Given the description of an element on the screen output the (x, y) to click on. 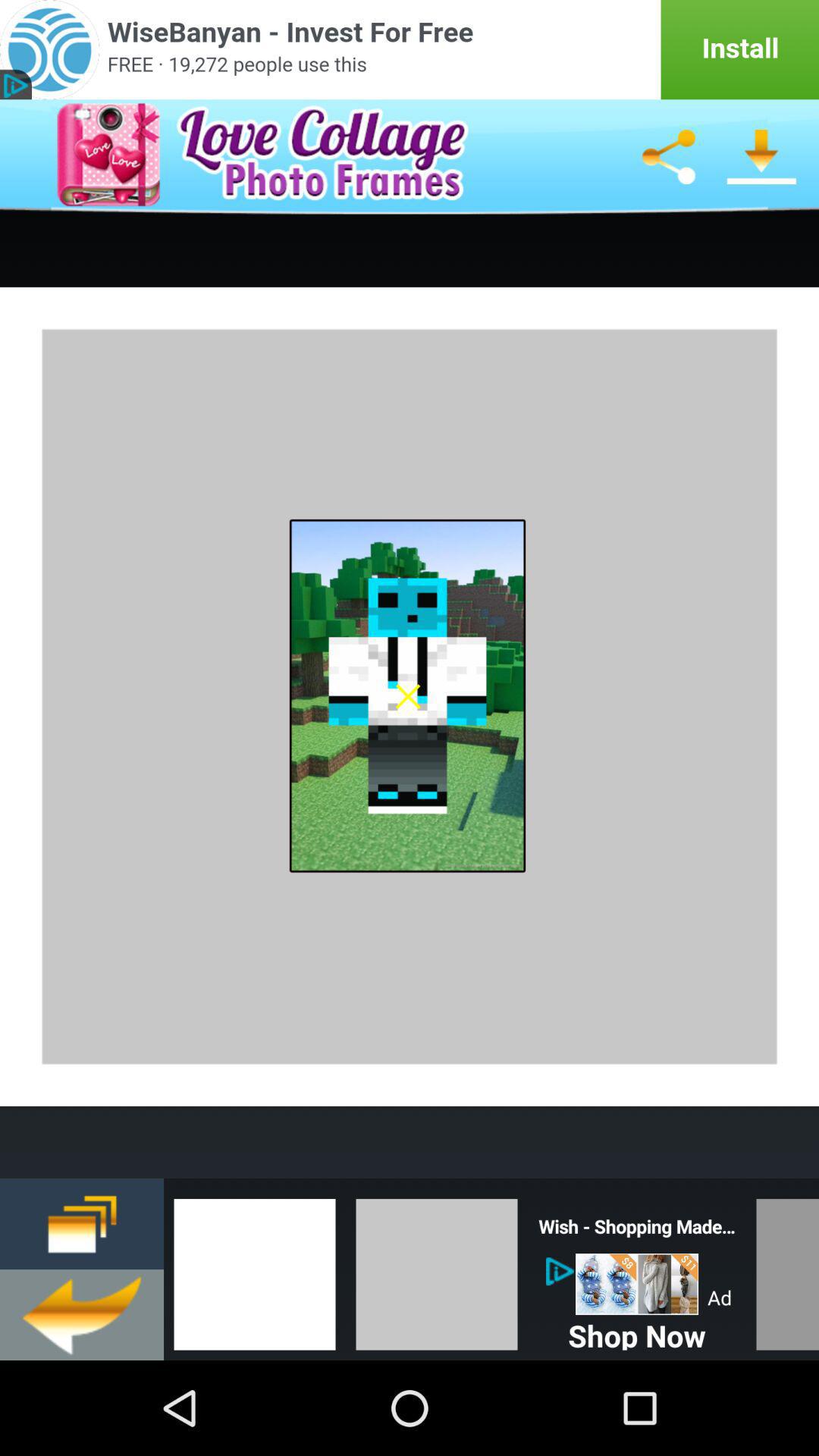
swipe until shop now (636, 1332)
